Given the description of an element on the screen output the (x, y) to click on. 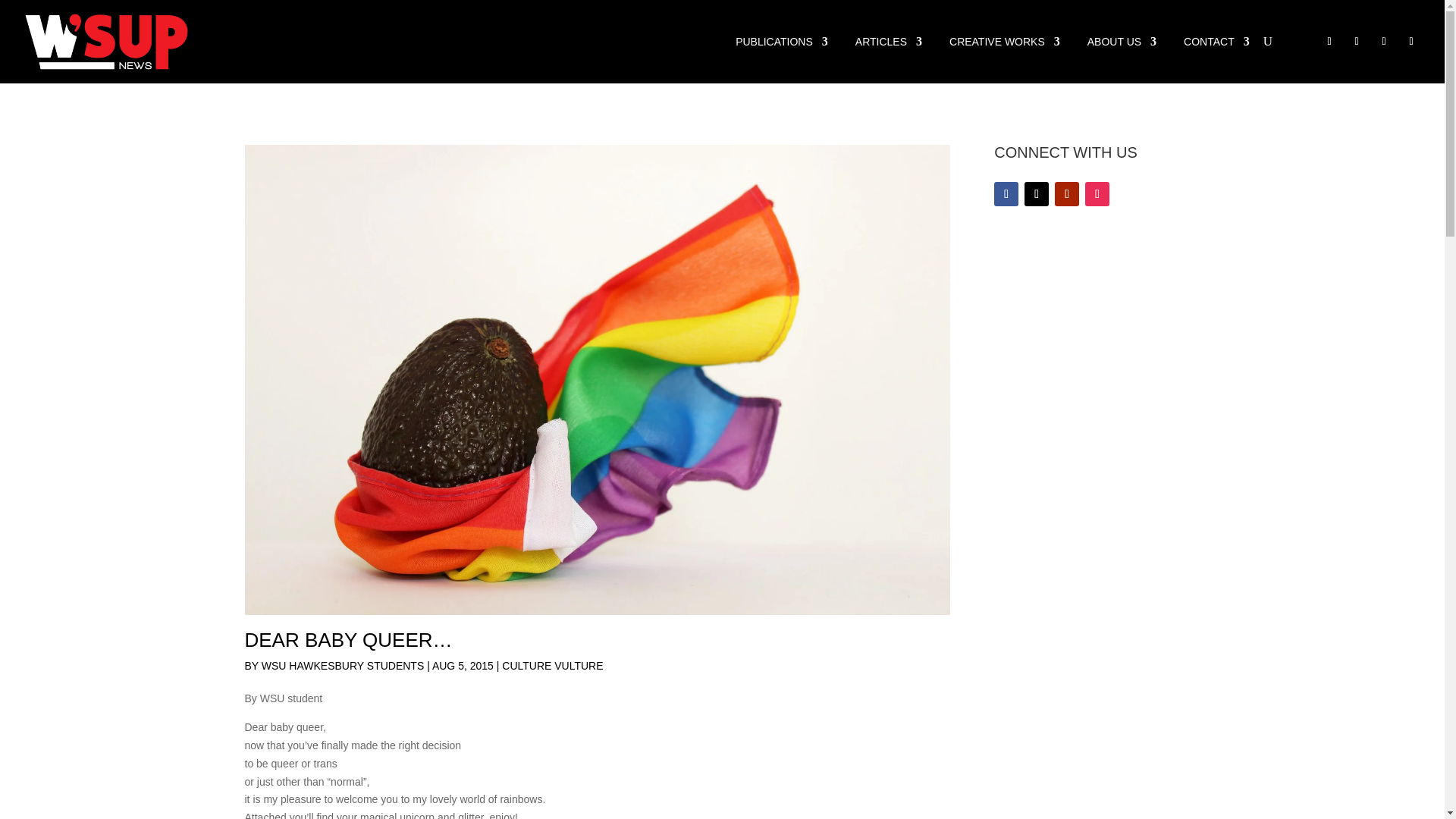
ABOUT US (1121, 41)
Follow on X (1036, 193)
ARTICLES (888, 41)
Follow on X (1356, 41)
CREATIVE WORKS (1004, 41)
Follow on Facebook (1329, 41)
PUBLICATIONS (781, 41)
Follow on Youtube (1066, 193)
Posts by WSU Hawkesbury students (342, 665)
Follow on Youtube (1383, 41)
